Given the description of an element on the screen output the (x, y) to click on. 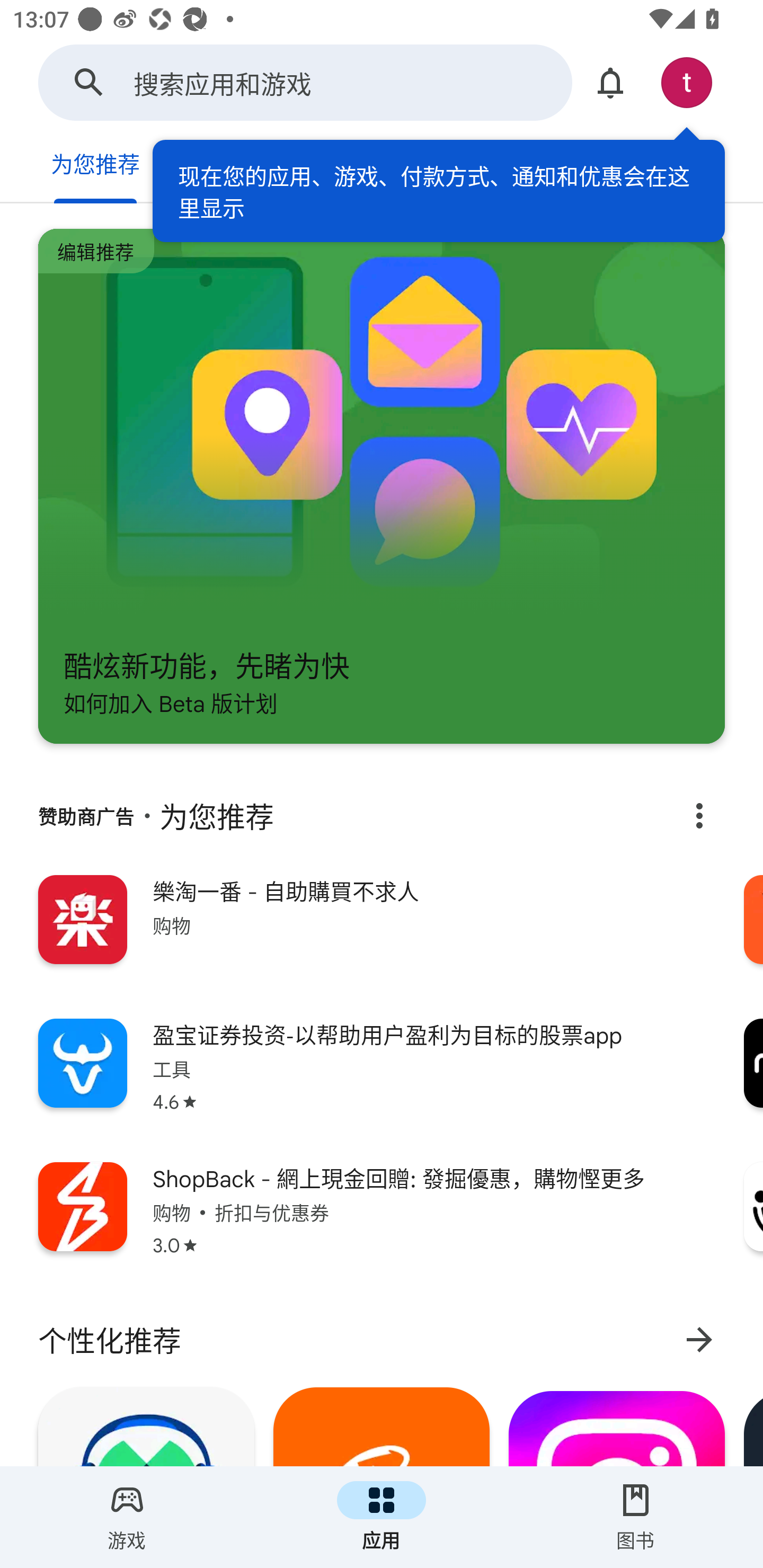
在 Google Play 中搜索 搜索应用和游戏 (305, 81)
在 Google Play 中搜索 (89, 81)
显示通知和优惠。 (610, 81)
目前的登录者是test appium testappium002@gmail.com
账号和设置。 (686, 81)
酷炫新功能，先睹为快 如何加入 Beta 版计划 编辑推荐 (381, 485)
关于此广告 (699, 815)
樂淘一番 - 自助購買不求人
购物
 (381, 934)
盈宝证券投资-以帮助用户盈利为目标的股票app
工具
星级：4.6
 (381, 1077)
ShopBack - 網上現金回贈: 發掘優惠，購物慳更多
购物
折扣与优惠券
星级：3.0
 (381, 1221)
个性化推荐 与“个性化推荐”相符的更多搜索结果 (381, 1339)
与“个性化推荐”相符的更多搜索结果 (699, 1339)
游戏 (127, 1517)
图书 (635, 1517)
